Given the description of an element on the screen output the (x, y) to click on. 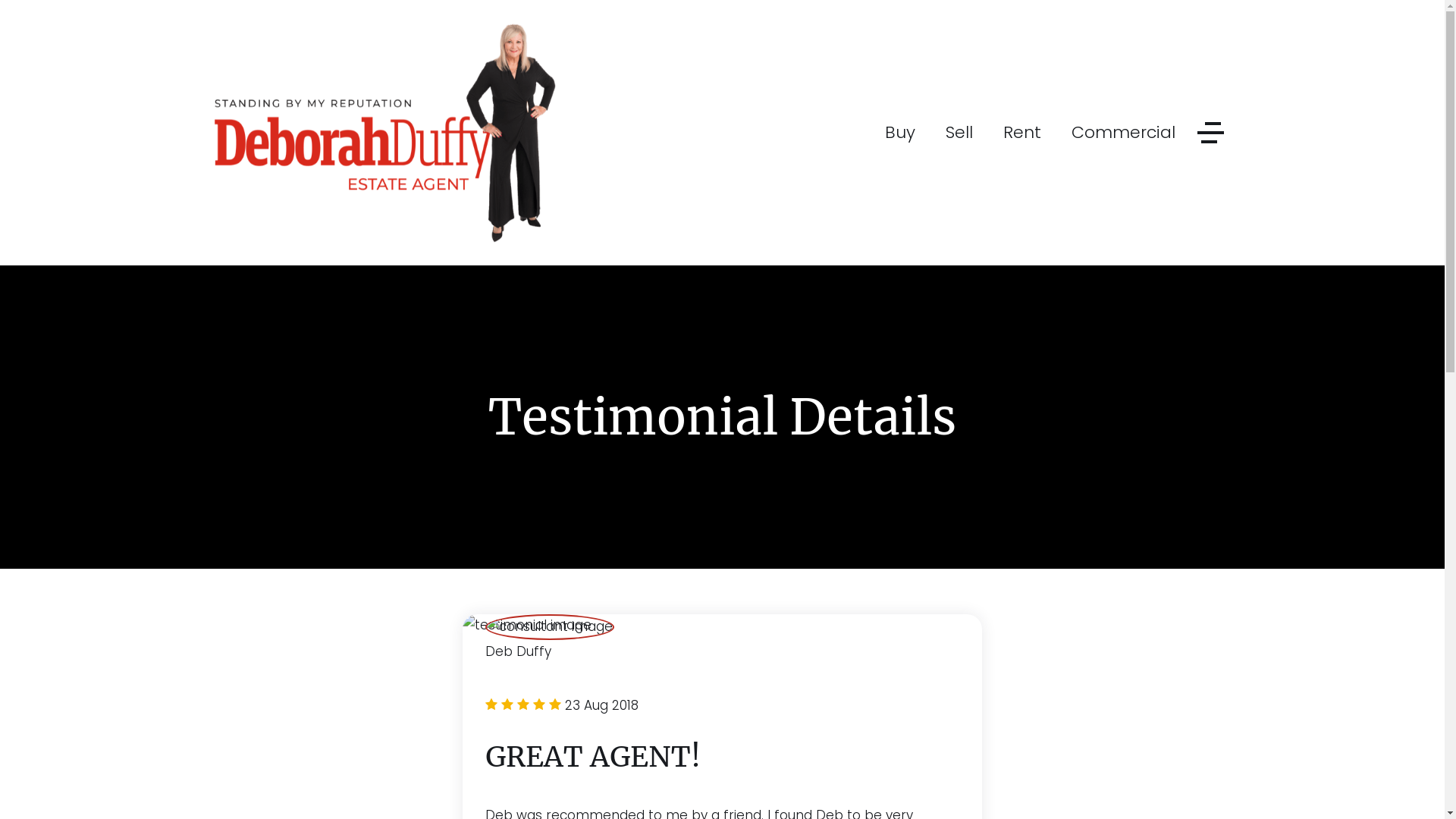
Deborah Duffy Estate Agent Element type: hover (384, 131)
Buy Element type: text (899, 133)
Rent Element type: text (1021, 133)
Sell Element type: text (958, 133)
Deb Duffy Element type: text (722, 651)
Commercial Element type: text (1122, 133)
